Given the description of an element on the screen output the (x, y) to click on. 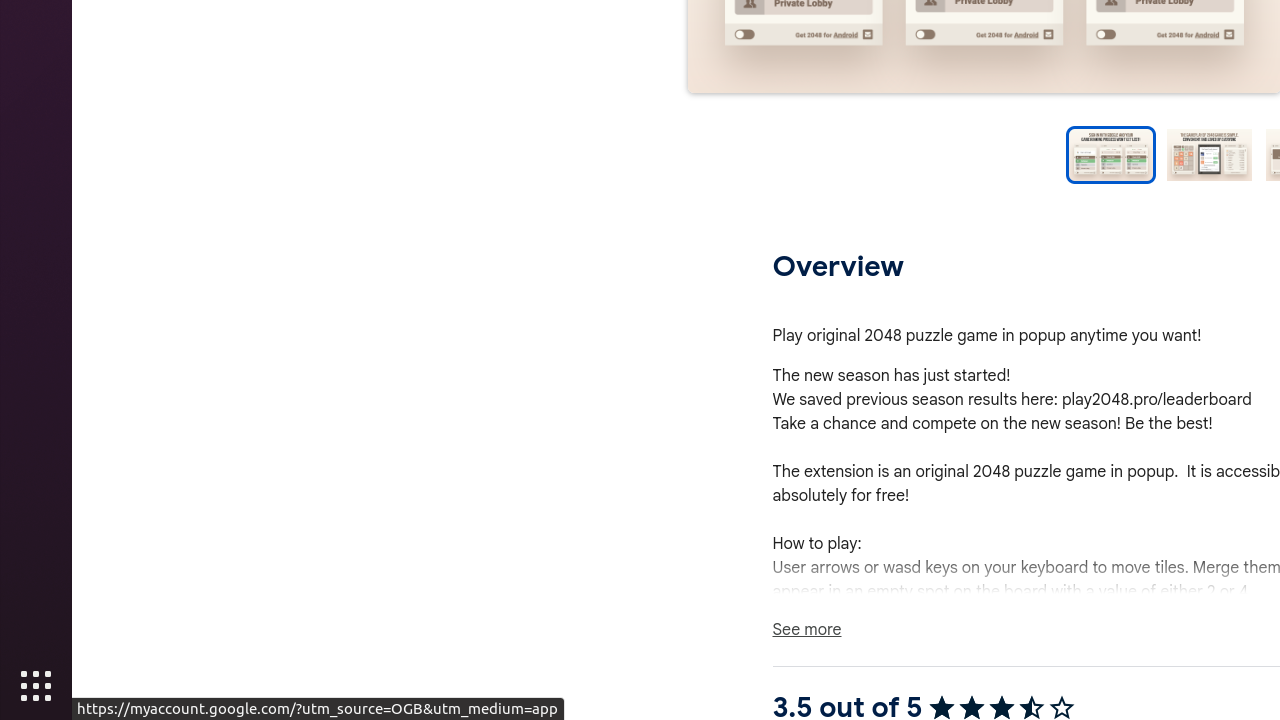
Preview slide 1 Element type: push-button (1110, 155)
Show Applications Element type: toggle-button (36, 686)
Preview slide 2 Element type: push-button (1209, 155)
